Given the description of an element on the screen output the (x, y) to click on. 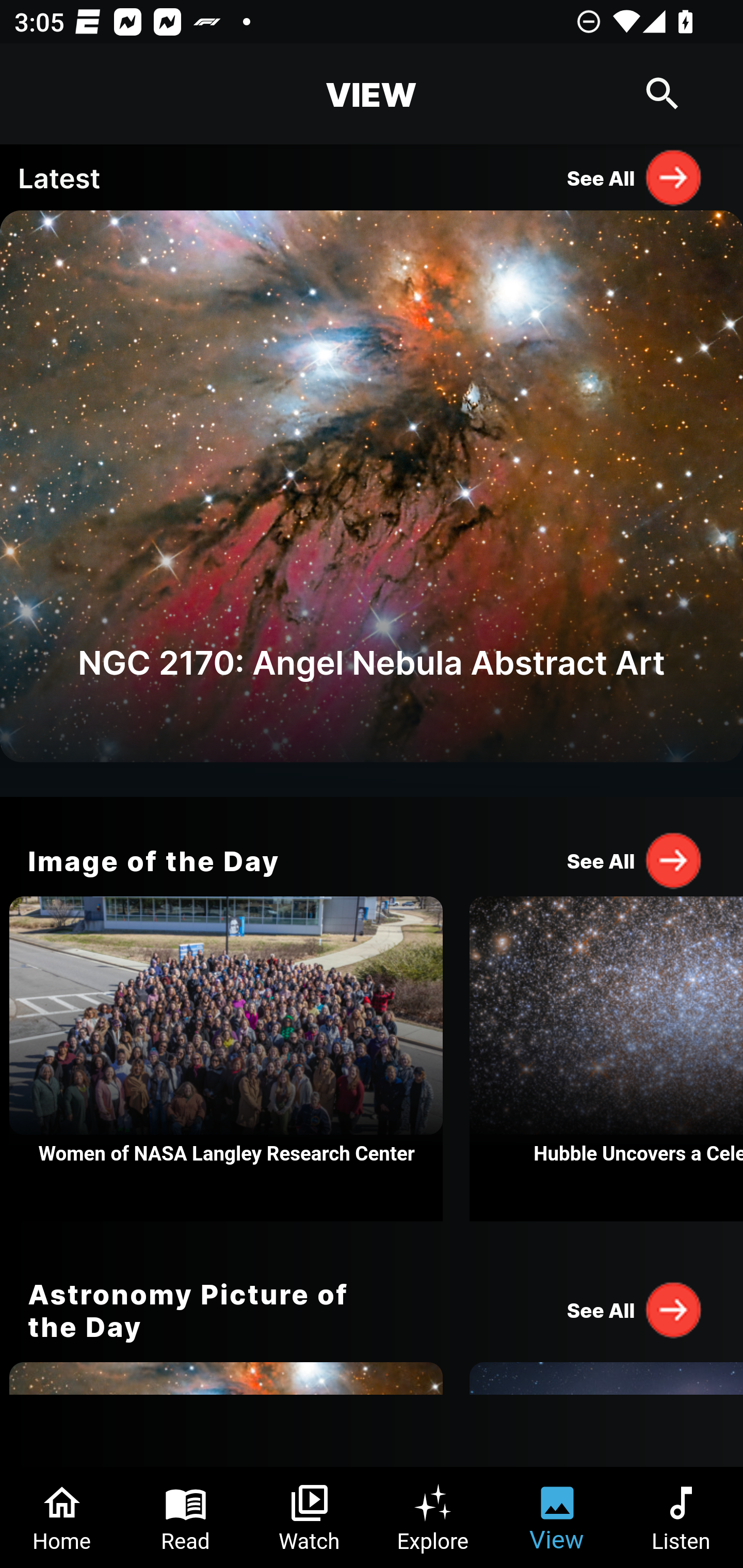
See All (634, 177)
NGC 2170: Angel Nebula Abstract Art
Hello World (371, 503)
See All (634, 860)
Women of NASA Langley Research Center (225, 1058)
Hubble Uncovers a Celestial Fossil (606, 1058)
See All (634, 1309)
Home
Tab 1 of 6 (62, 1517)
Read
Tab 2 of 6 (185, 1517)
Watch
Tab 3 of 6 (309, 1517)
Explore
Tab 4 of 6 (433, 1517)
View
Tab 5 of 6 (556, 1517)
Listen
Tab 6 of 6 (680, 1517)
